Given the description of an element on the screen output the (x, y) to click on. 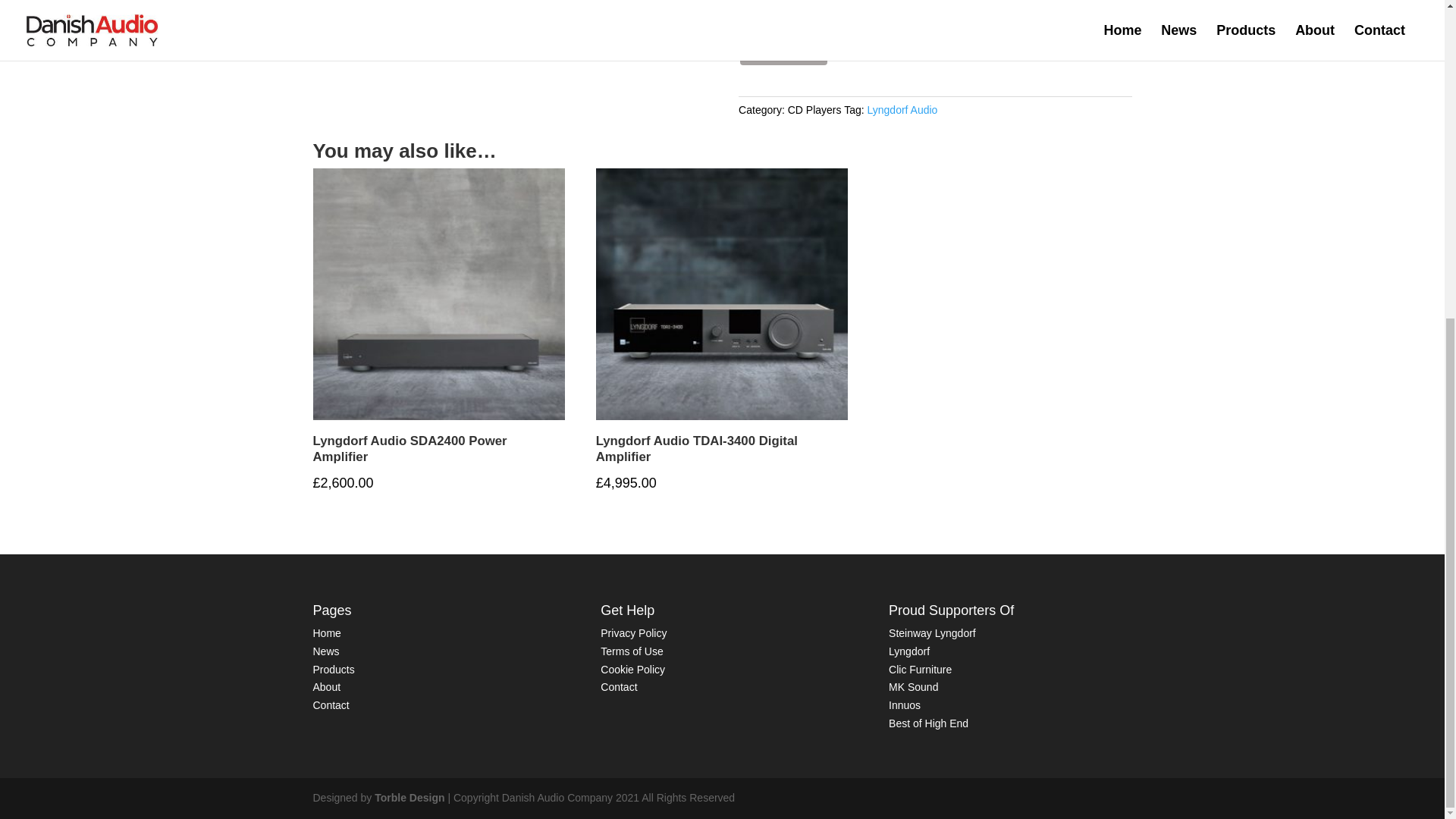
Steinway Lyngdorf (931, 633)
Terms of Use (630, 651)
Contact (331, 705)
Contact (618, 686)
Home (326, 633)
Clic Furniture (920, 669)
Best of High End (928, 723)
News (326, 651)
Innuos (904, 705)
MK Sound (912, 686)
